Given the description of an element on the screen output the (x, y) to click on. 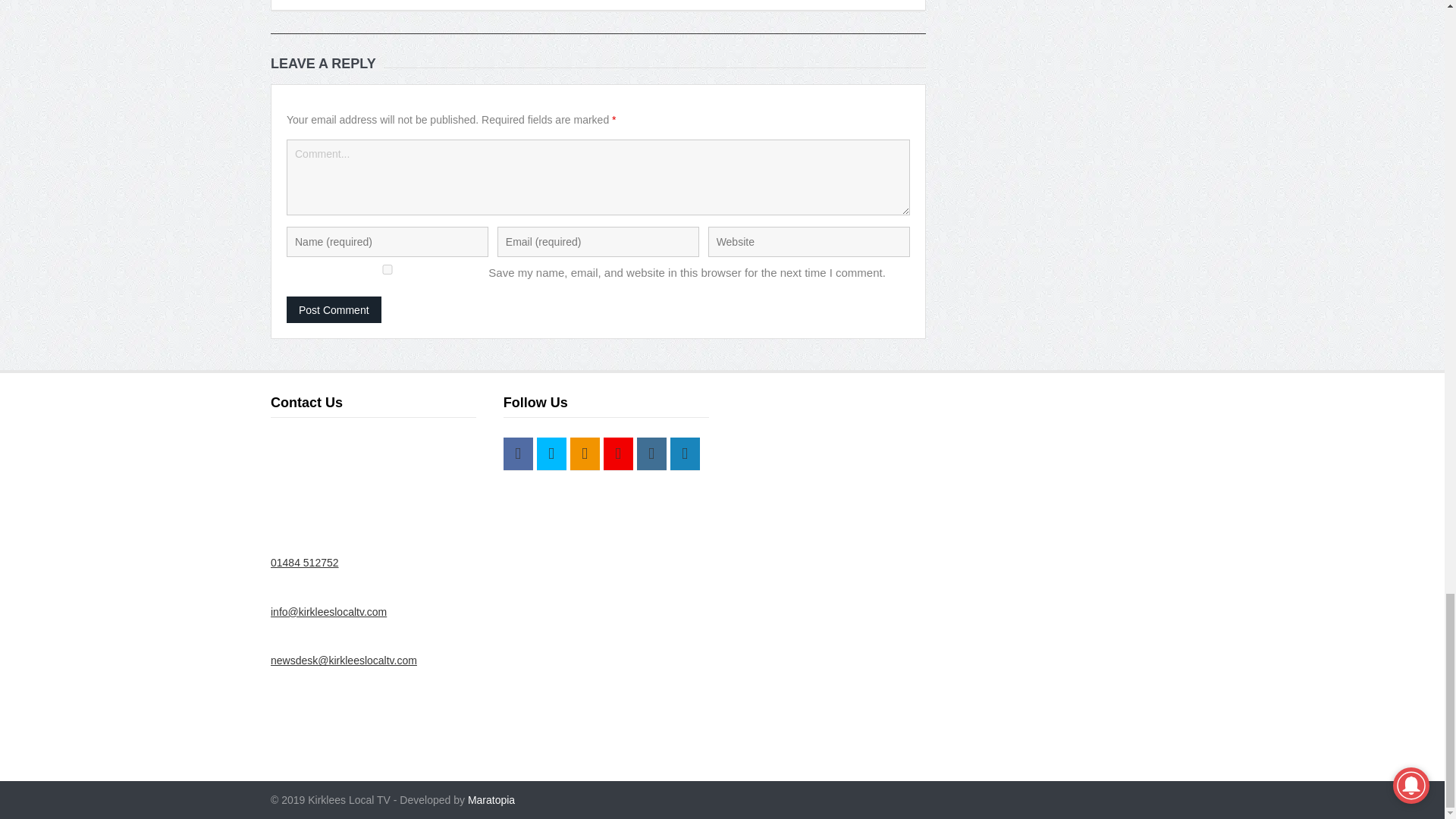
Post Comment (333, 309)
yes (386, 269)
